Given the description of an element on the screen output the (x, y) to click on. 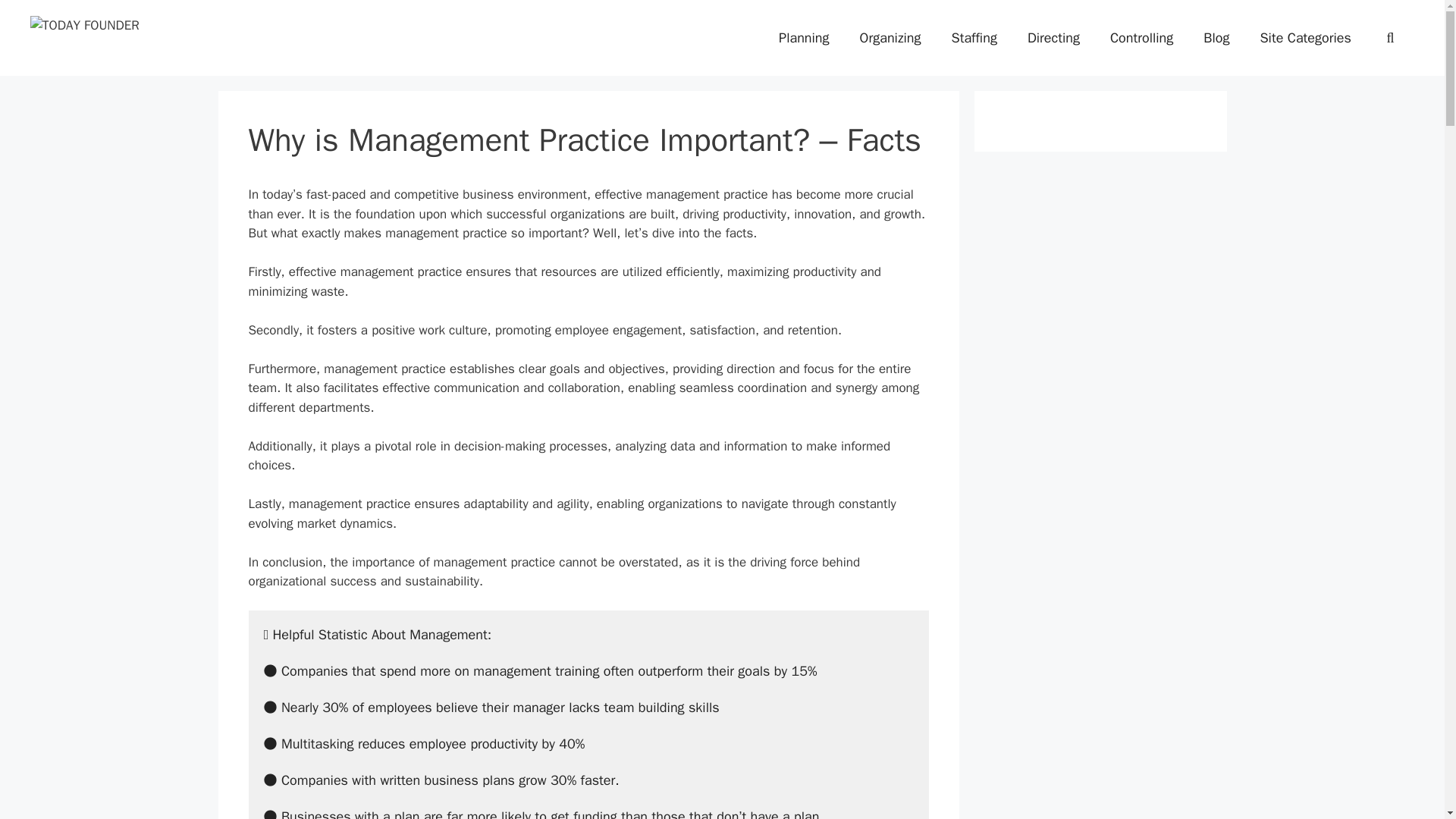
Organizing (890, 37)
Staffing (973, 37)
Directing (1052, 37)
Controlling (1141, 37)
Planning (803, 37)
Blog (1216, 37)
Site Categories (1304, 37)
